Given the description of an element on the screen output the (x, y) to click on. 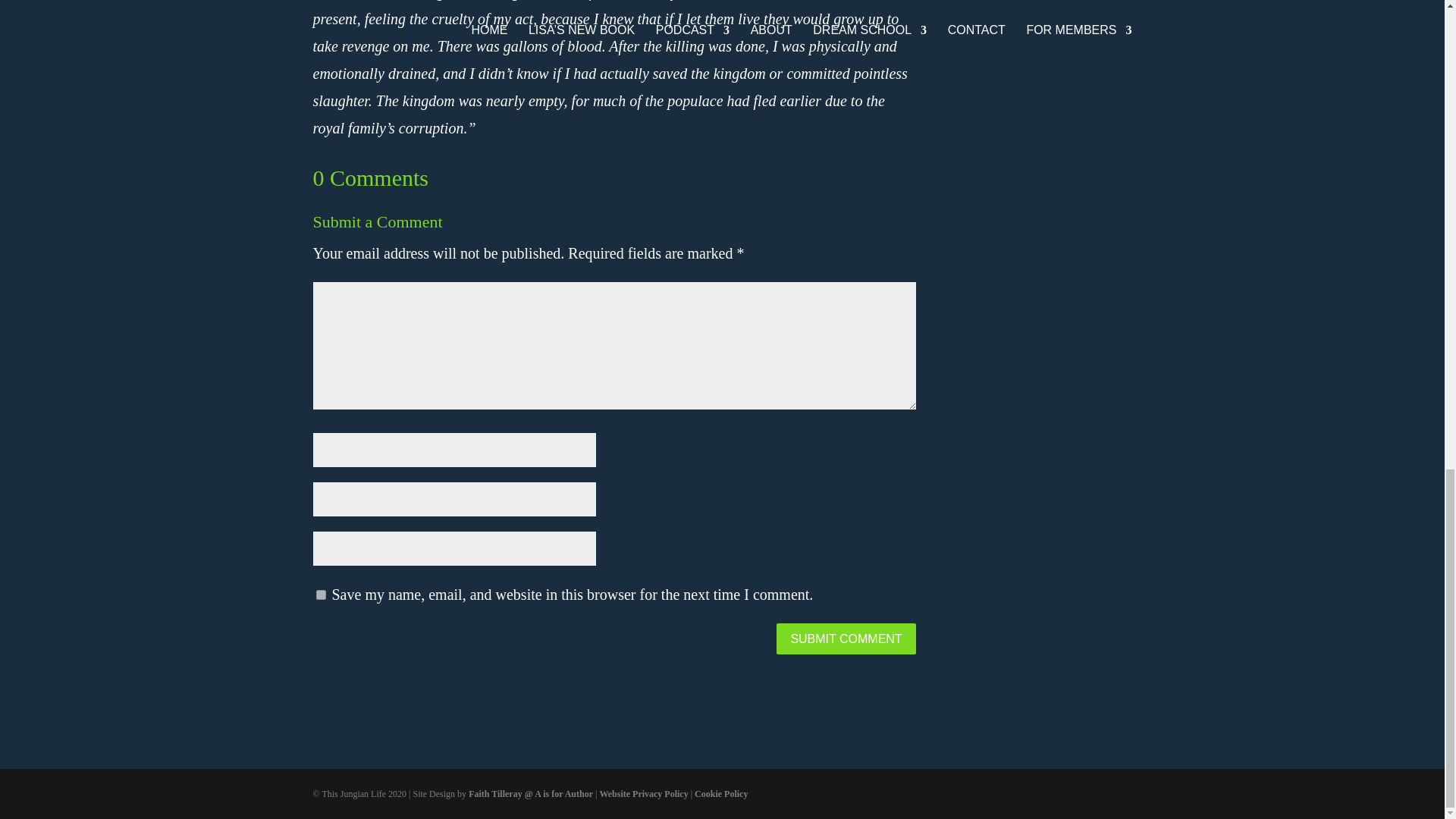
yes (319, 594)
Website Privacy Policy (642, 793)
Cookie Policy (721, 793)
SUBMIT COMMENT (845, 638)
